Given the description of an element on the screen output the (x, y) to click on. 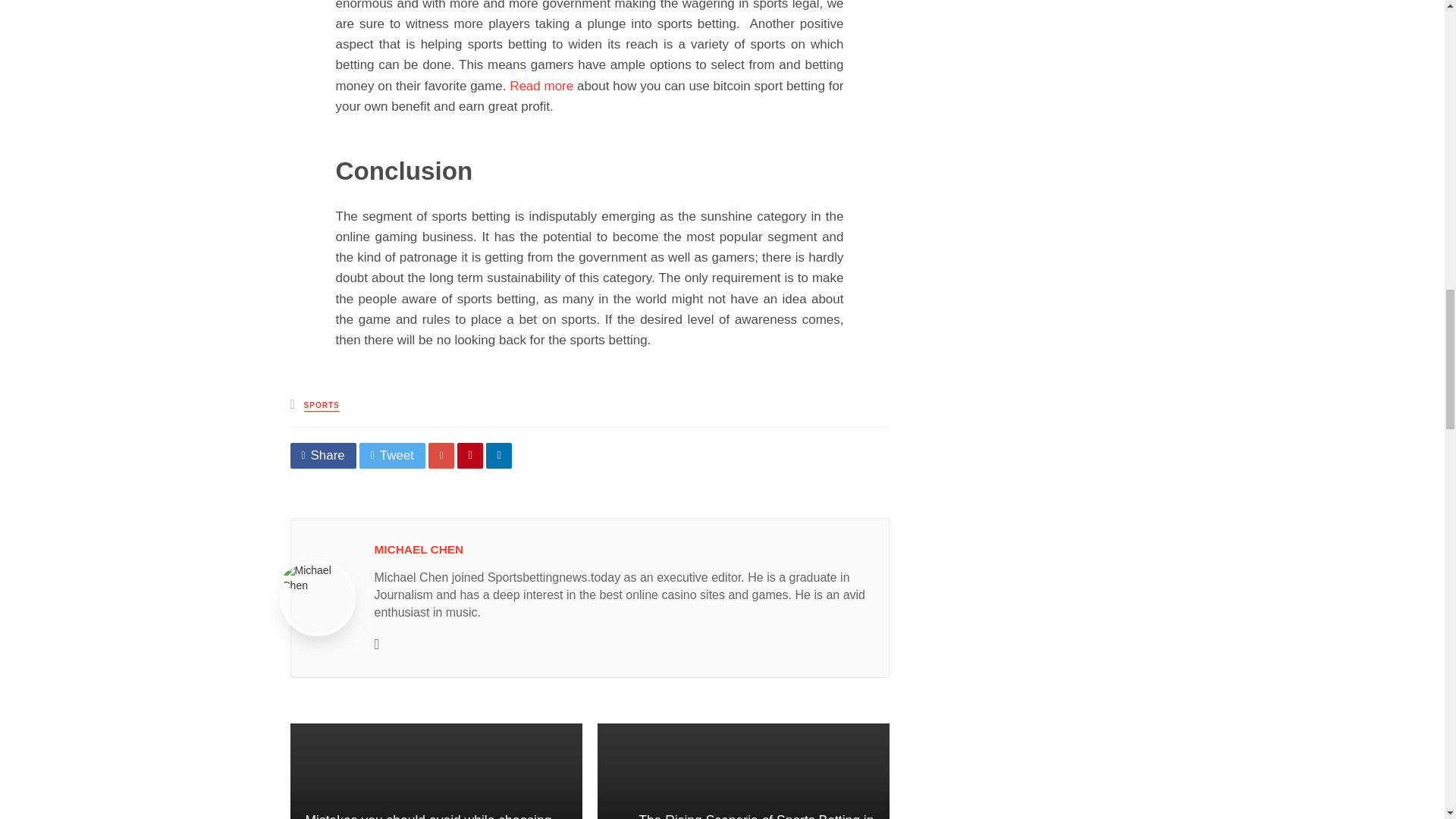
Share (322, 455)
Tweet (392, 455)
Share on Linkedin (499, 455)
Posts by Michael Chen (419, 549)
Share on Facebook (322, 455)
Share on Pinterest (470, 455)
SPORTS (321, 405)
Share on Twitter (392, 455)
Read more (541, 85)
